Given the description of an element on the screen output the (x, y) to click on. 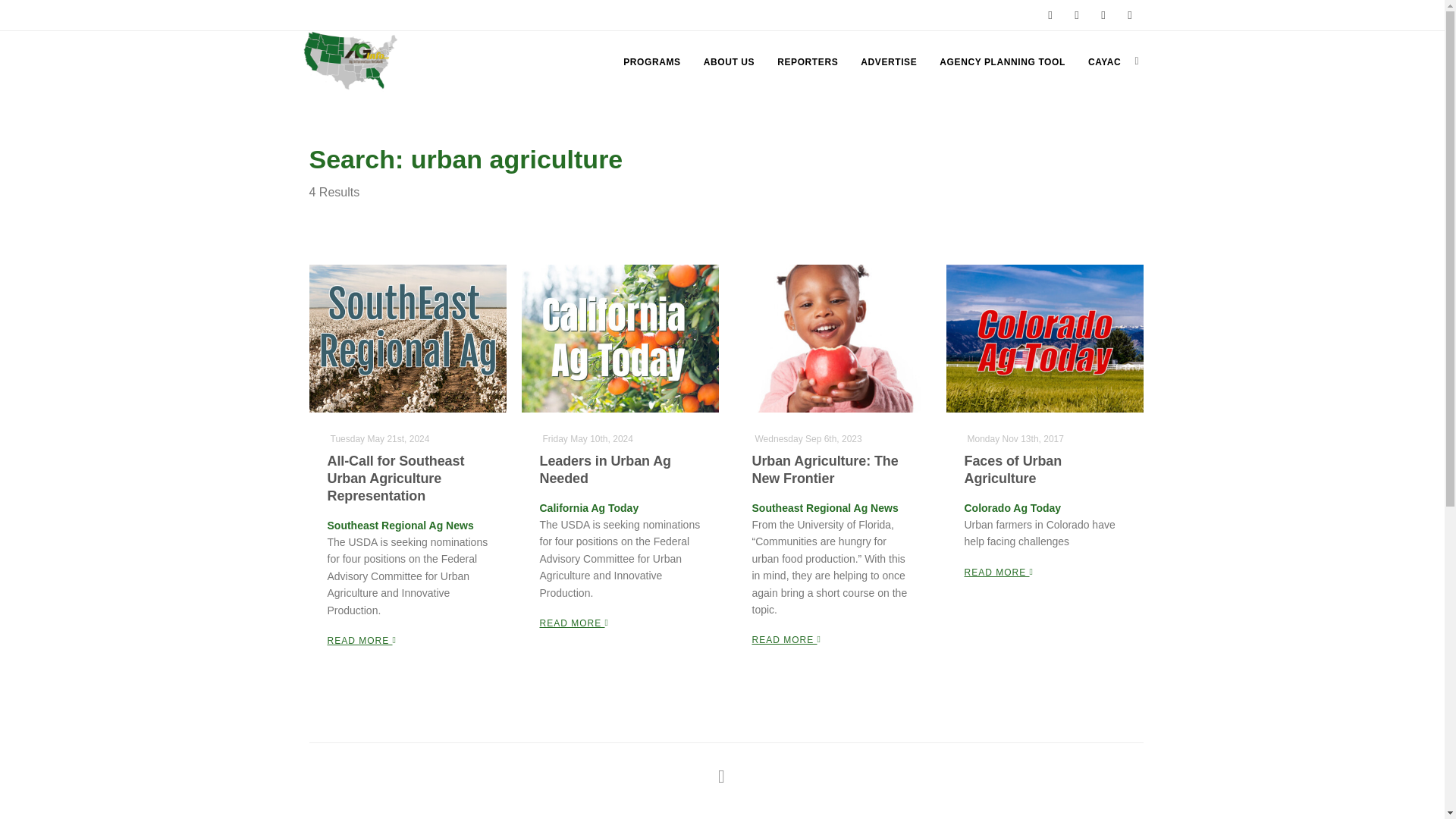
PROGRAMS (651, 62)
ABOUT US (728, 62)
